Given the description of an element on the screen output the (x, y) to click on. 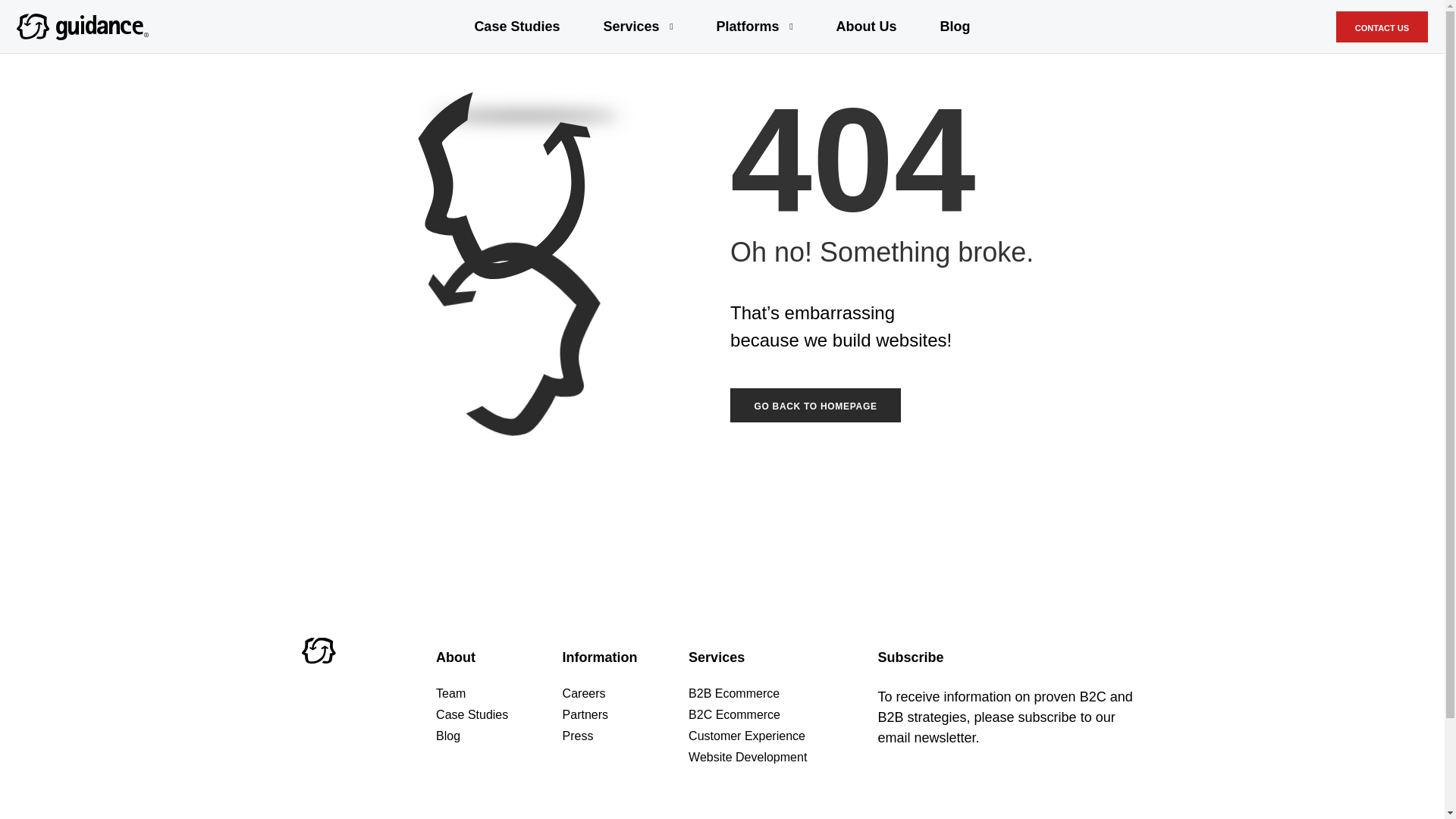
Blog (498, 735)
Case Studies (516, 26)
B2B Ecommerce (751, 694)
B2C Ecommerce (751, 714)
Partners (625, 714)
guidance-logo-icon (318, 650)
Careers (625, 694)
guidance-logo (82, 26)
Website Development (751, 757)
About Us (865, 26)
